Given the description of an element on the screen output the (x, y) to click on. 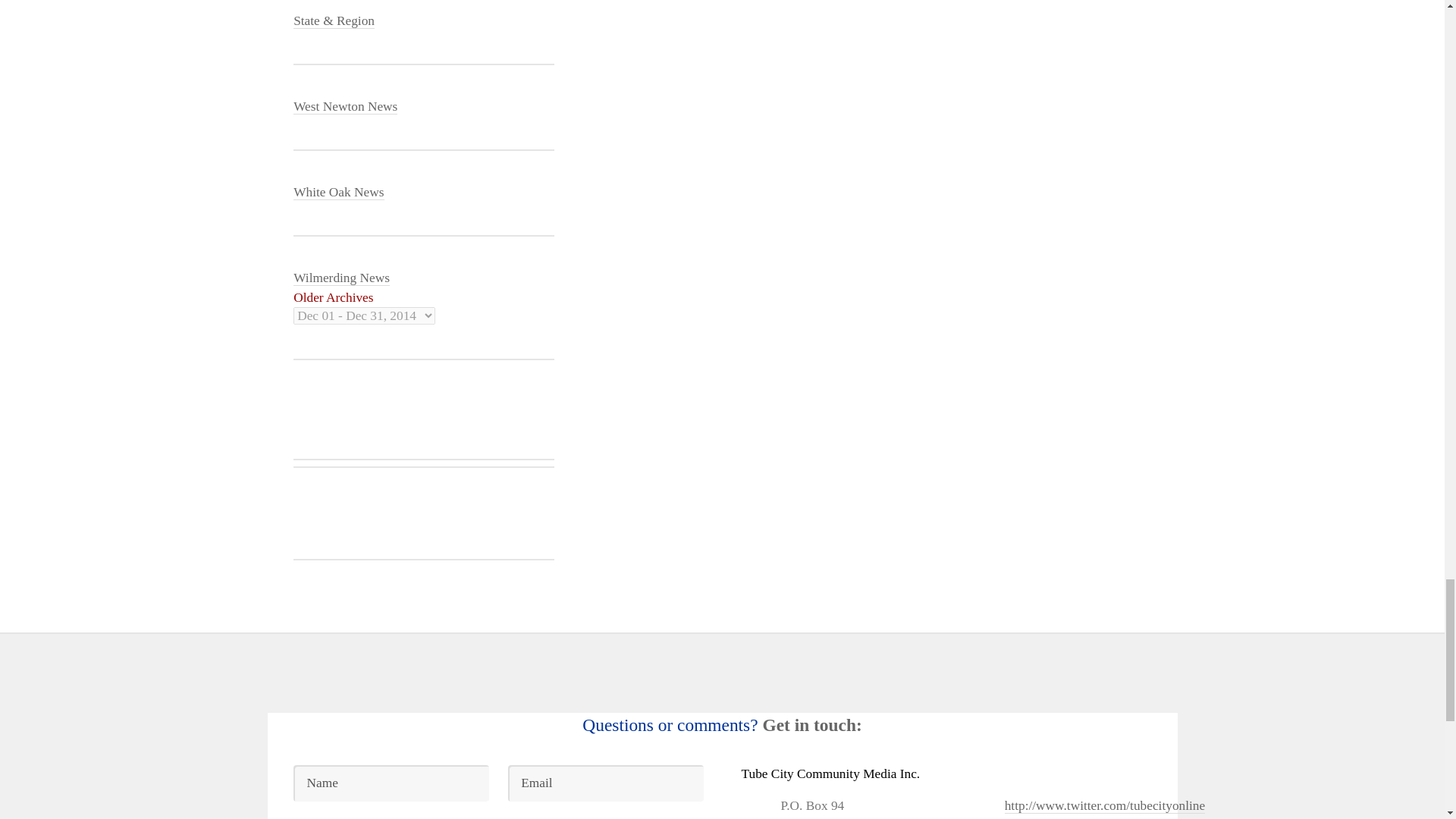
Wilmerding News (342, 278)
White Oak News (339, 192)
West Newton News (345, 106)
